Given the description of an element on the screen output the (x, y) to click on. 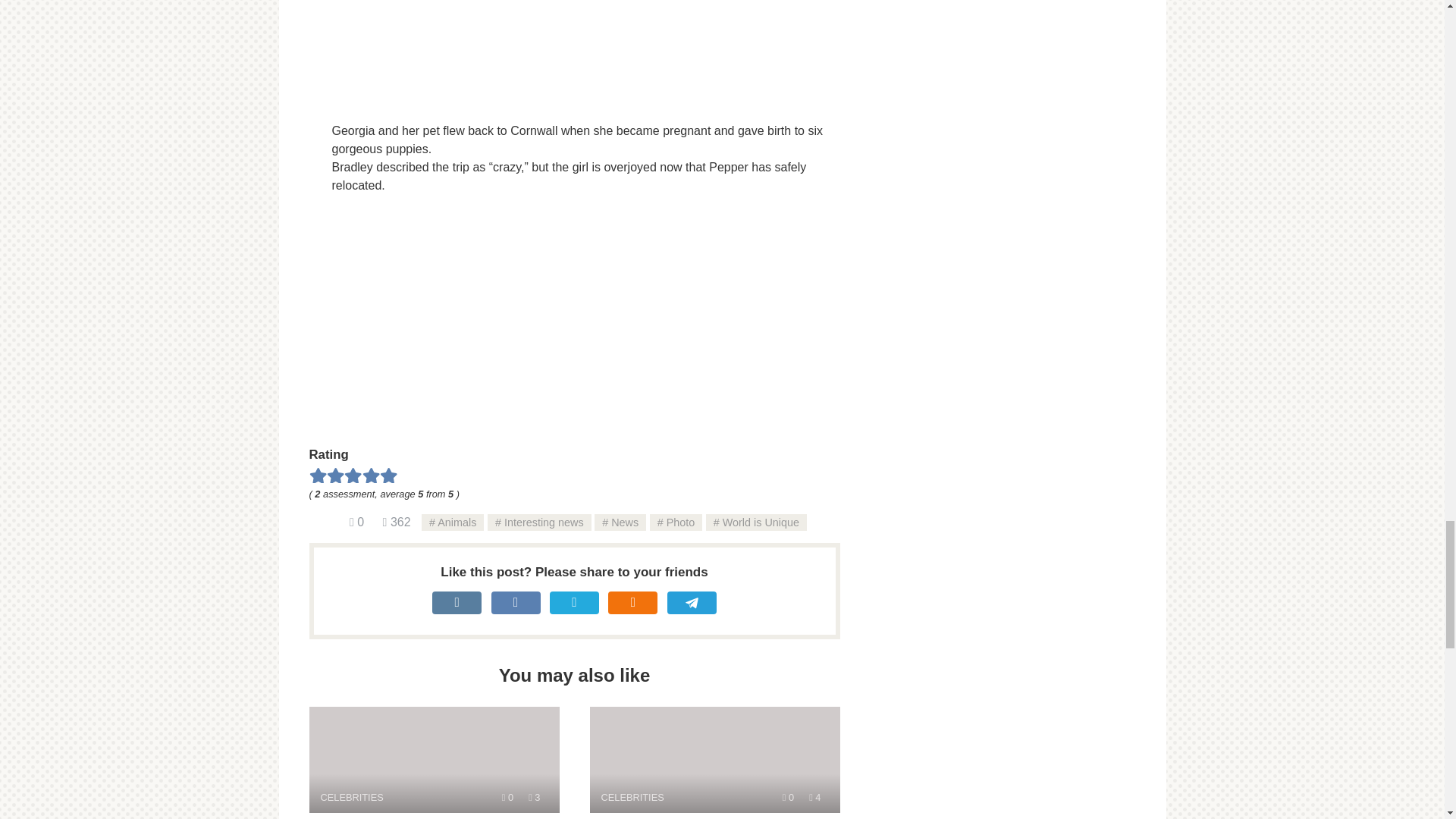
Views (396, 521)
Interesting news (539, 522)
Comments (788, 797)
Animals (452, 522)
World is Unique (756, 522)
Views (433, 759)
Photo (534, 797)
Comments (676, 522)
Comments (356, 521)
Views (507, 797)
News (714, 759)
